Given the description of an element on the screen output the (x, y) to click on. 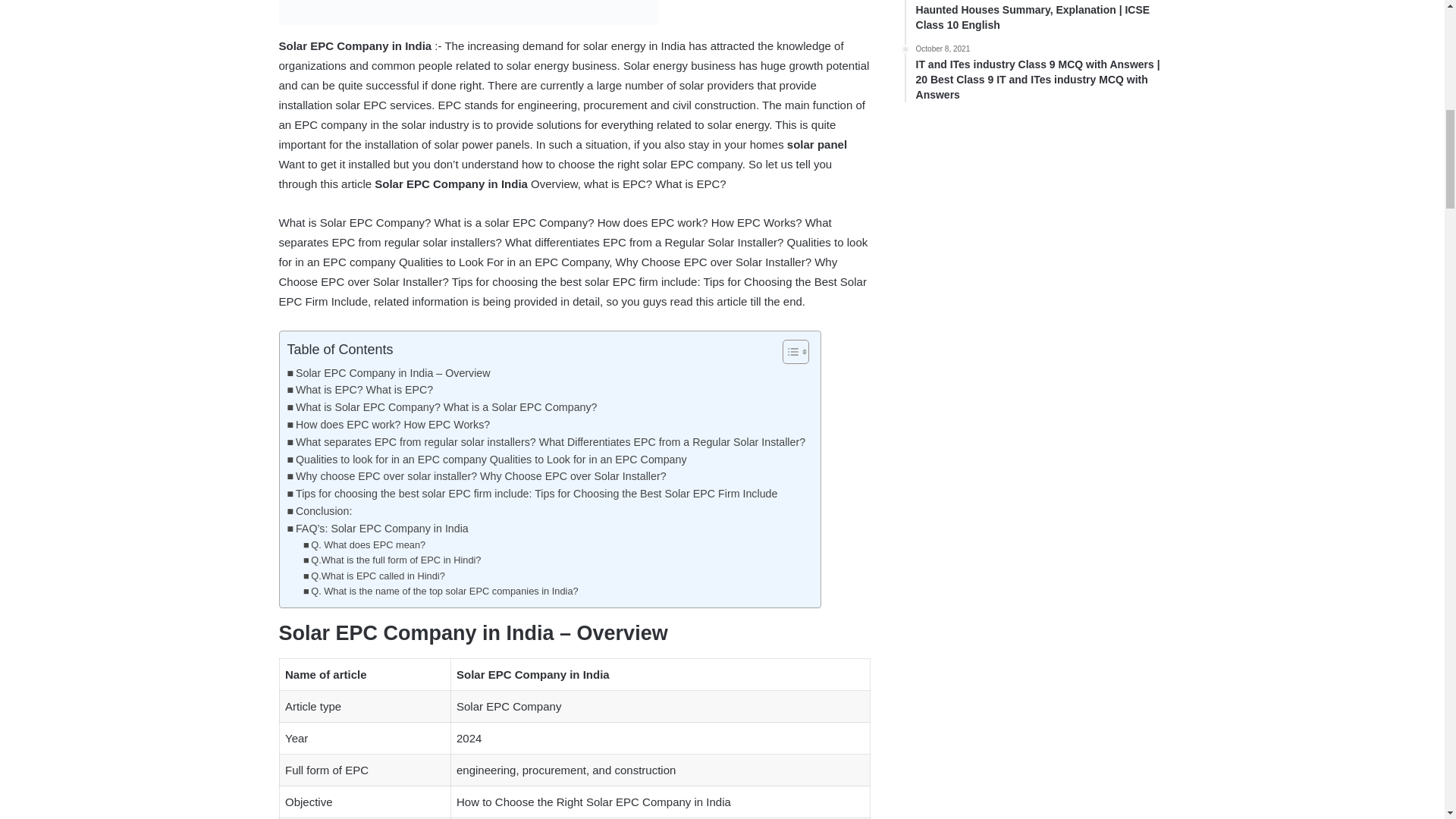
Conclusion: (319, 511)
What is EPC?  What is EPC? (359, 389)
What is Solar EPC Company?  What is a Solar EPC Company? (441, 407)
How does EPC work?  How EPC Works? (387, 425)
